Given the description of an element on the screen output the (x, y) to click on. 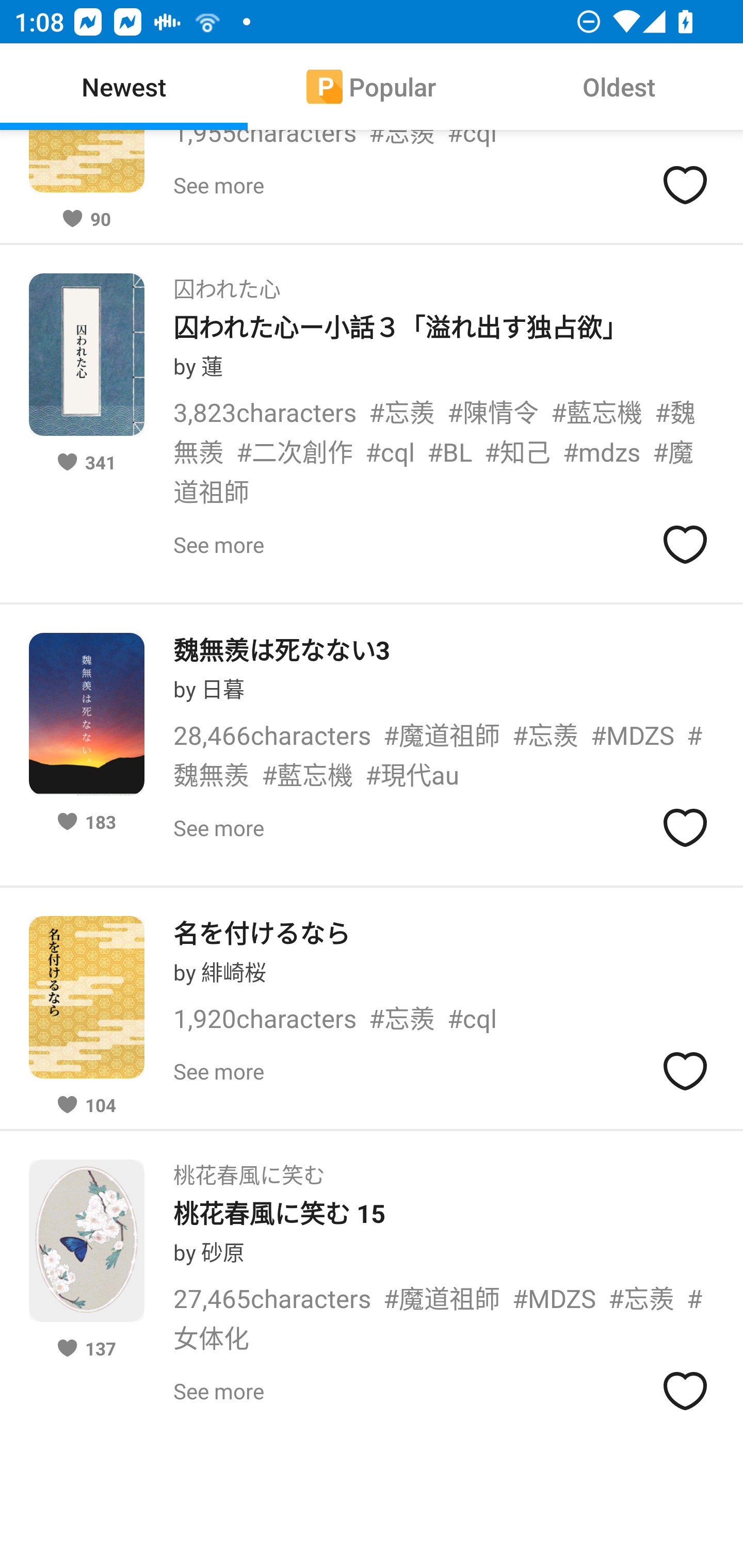
[P] Popular (371, 86)
Oldest (619, 86)
1,955characters  #忘羨  #cql 90 See more (371, 186)
囚われた心 (226, 282)
桃花春風に笑む (248, 1168)
